Given the description of an element on the screen output the (x, y) to click on. 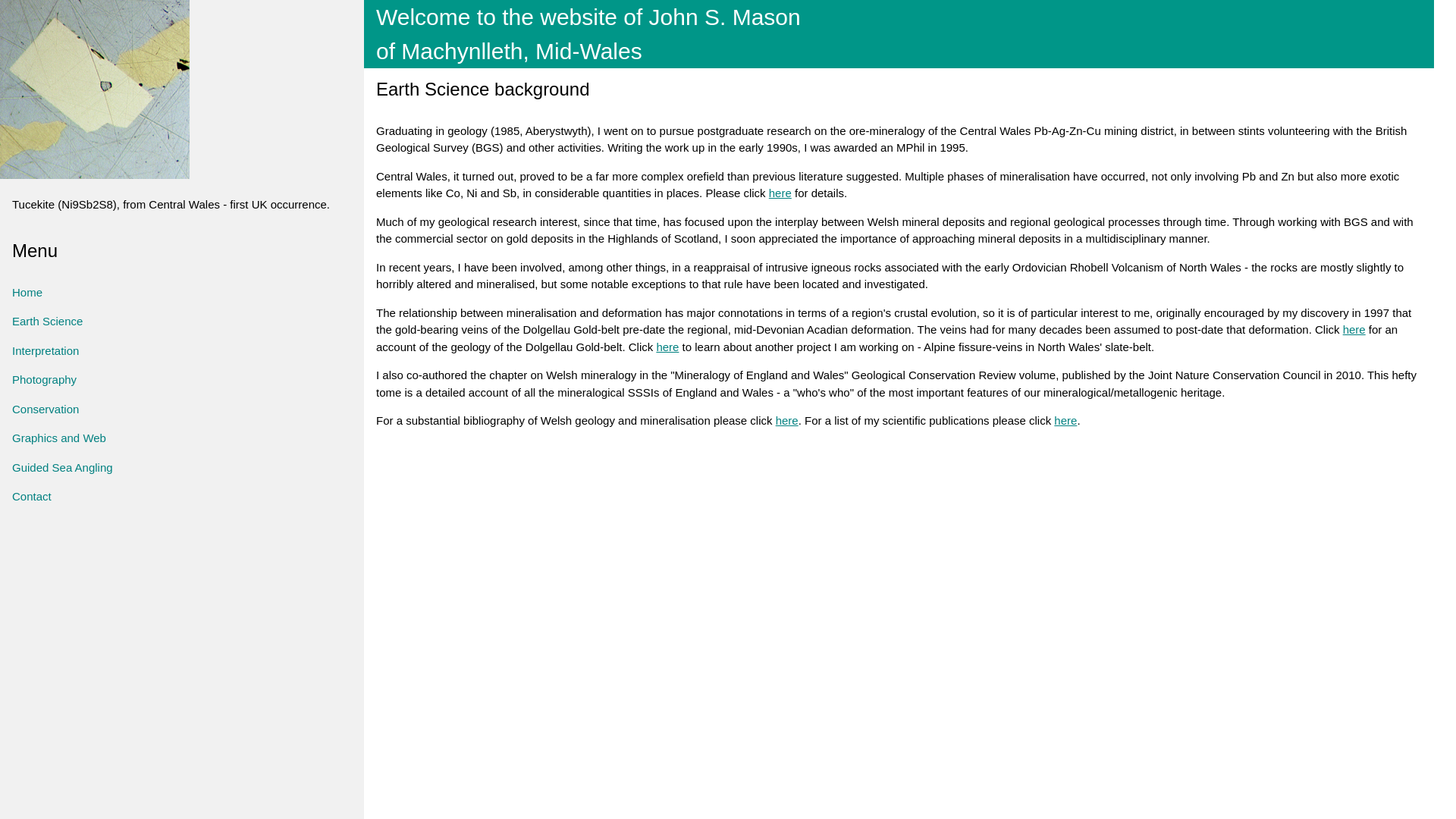
here (667, 346)
here (1065, 420)
Interpretation (182, 351)
Photography (182, 379)
Home (182, 292)
Conservation (182, 408)
here (1353, 328)
here (786, 420)
Earth Science (182, 321)
here (780, 192)
